Given the description of an element on the screen output the (x, y) to click on. 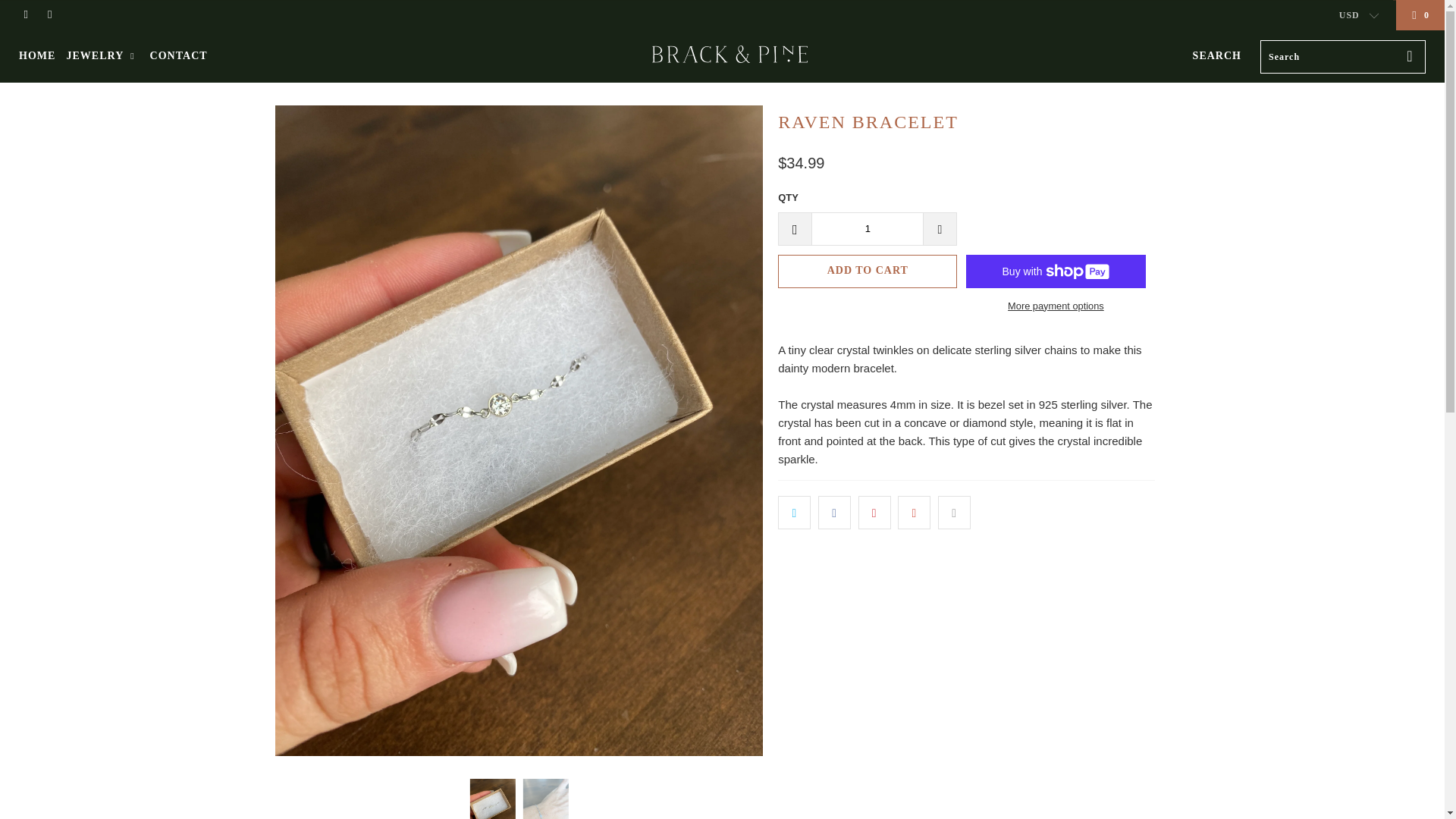
1 (866, 228)
Share this on Facebook (834, 512)
Share this on Twitter (793, 512)
Email this to a friend (954, 512)
Share this on Pinterest (875, 512)
